Given the description of an element on the screen output the (x, y) to click on. 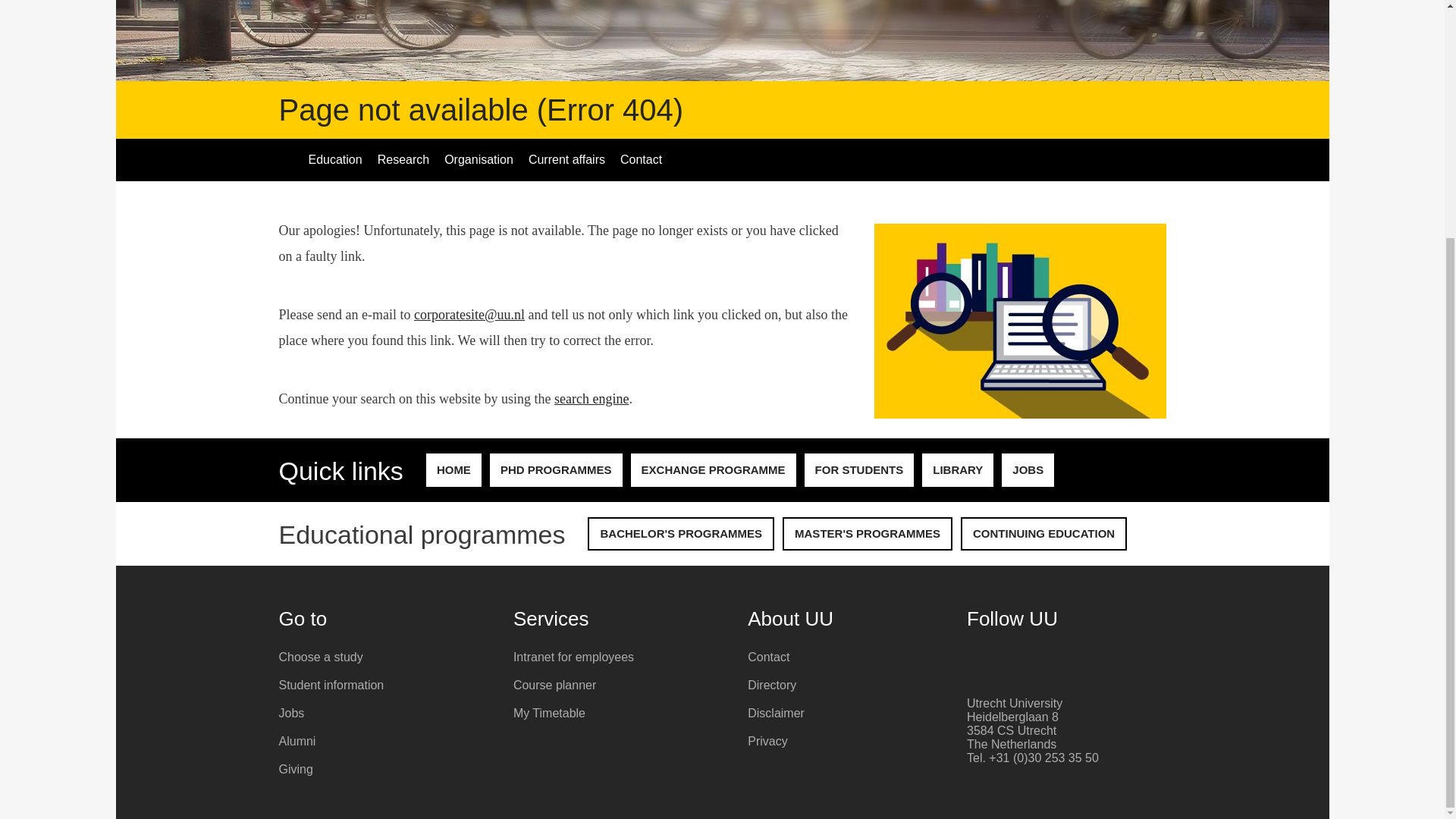
PHD PROGRAMMES (556, 469)
Privacy (853, 741)
LIBRARY (956, 469)
Research (402, 159)
HOME (453, 469)
Alumni (384, 741)
Disclaimer (853, 713)
CONTINUING EDUCATION (1043, 533)
BACHELOR'S PROGRAMMES (681, 533)
EXCHANGE PROGRAMME (713, 469)
